Given the description of an element on the screen output the (x, y) to click on. 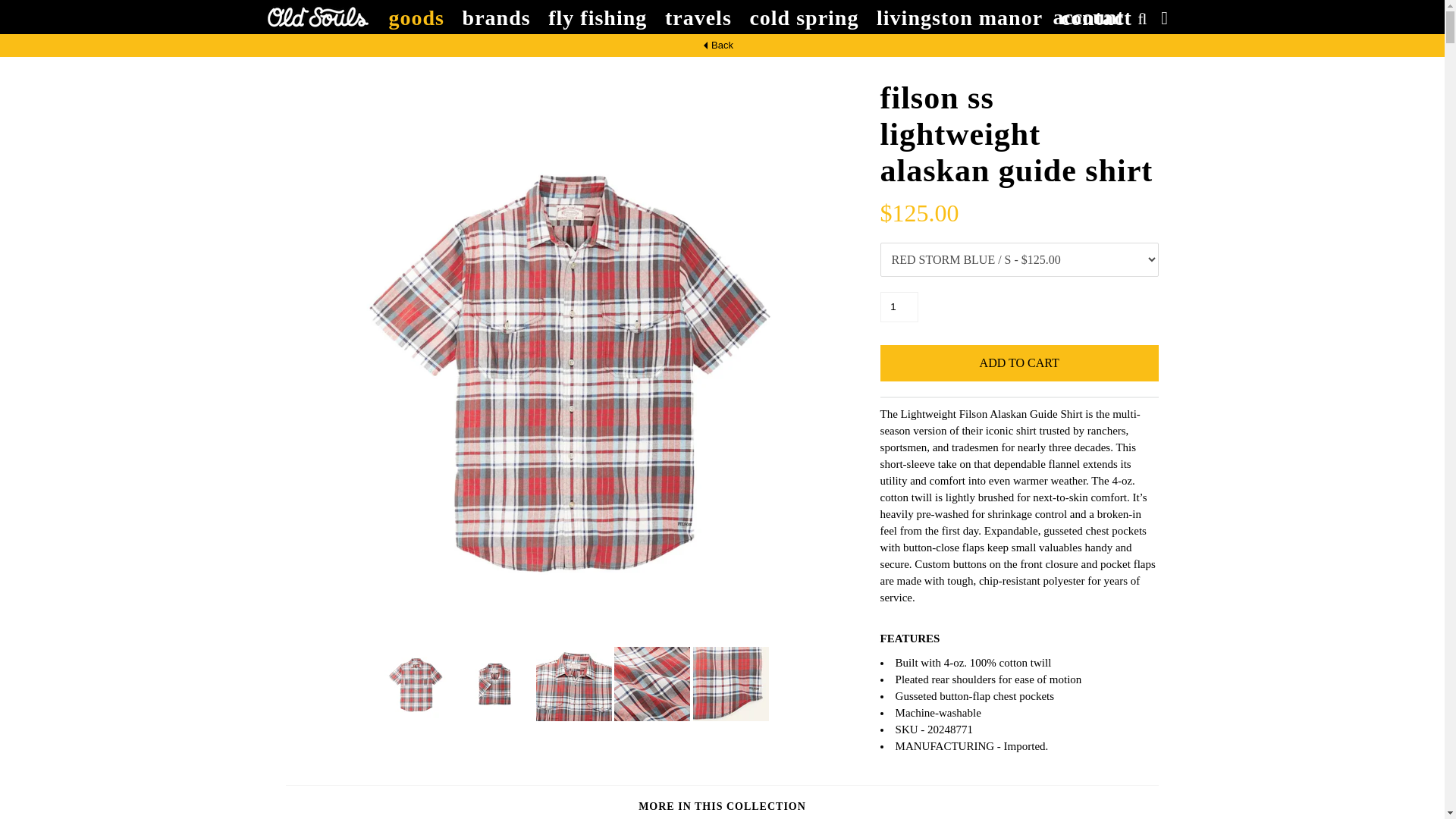
1 (899, 306)
brands (496, 17)
Add to Cart (1019, 362)
goods (415, 17)
